Given the description of an element on the screen output the (x, y) to click on. 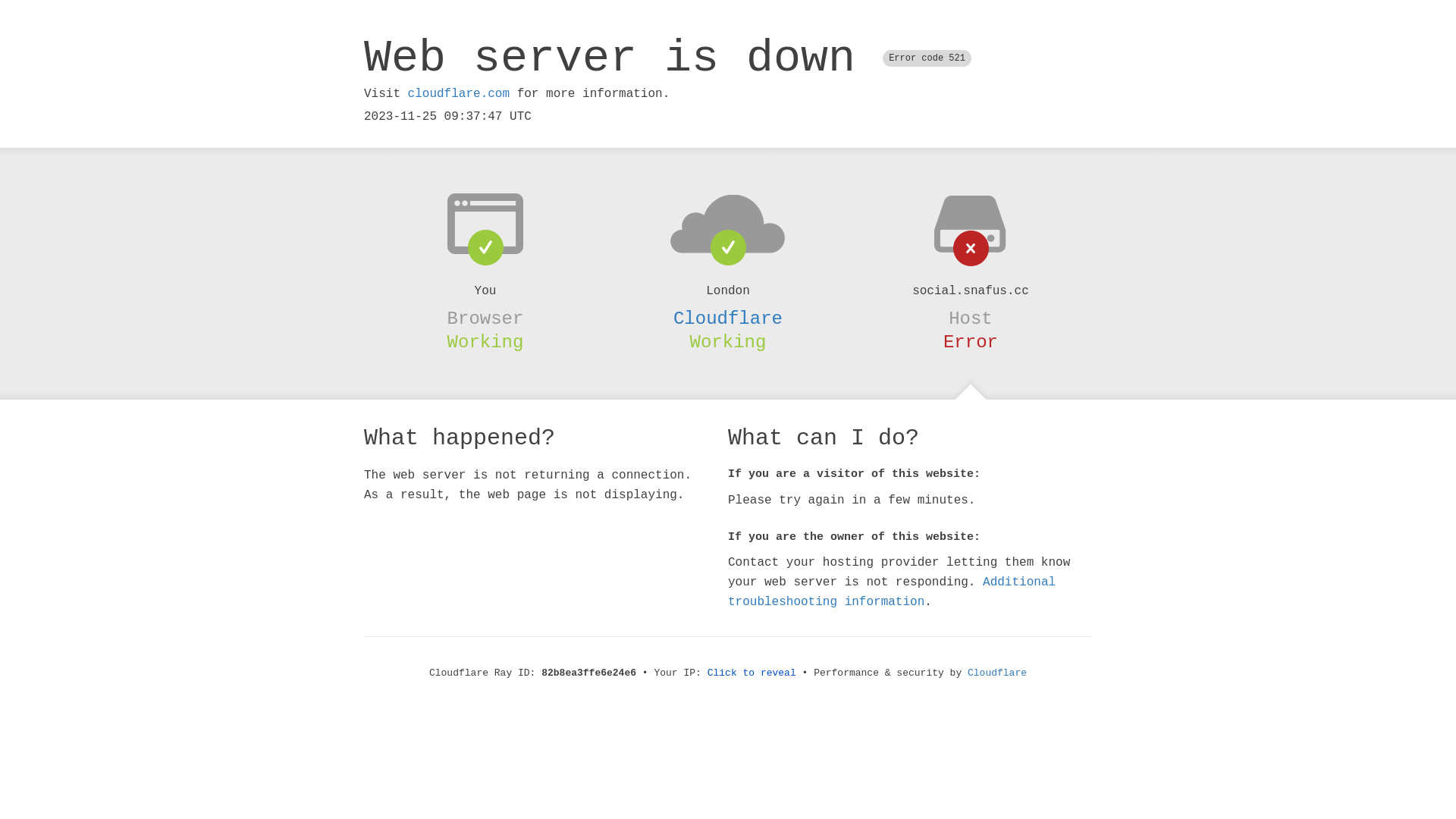
Cloudflare Element type: text (996, 672)
Click to reveal Element type: text (751, 672)
Additional troubleshooting information Element type: text (891, 591)
cloudflare.com Element type: text (458, 93)
Cloudflare Element type: text (727, 318)
